Given the description of an element on the screen output the (x, y) to click on. 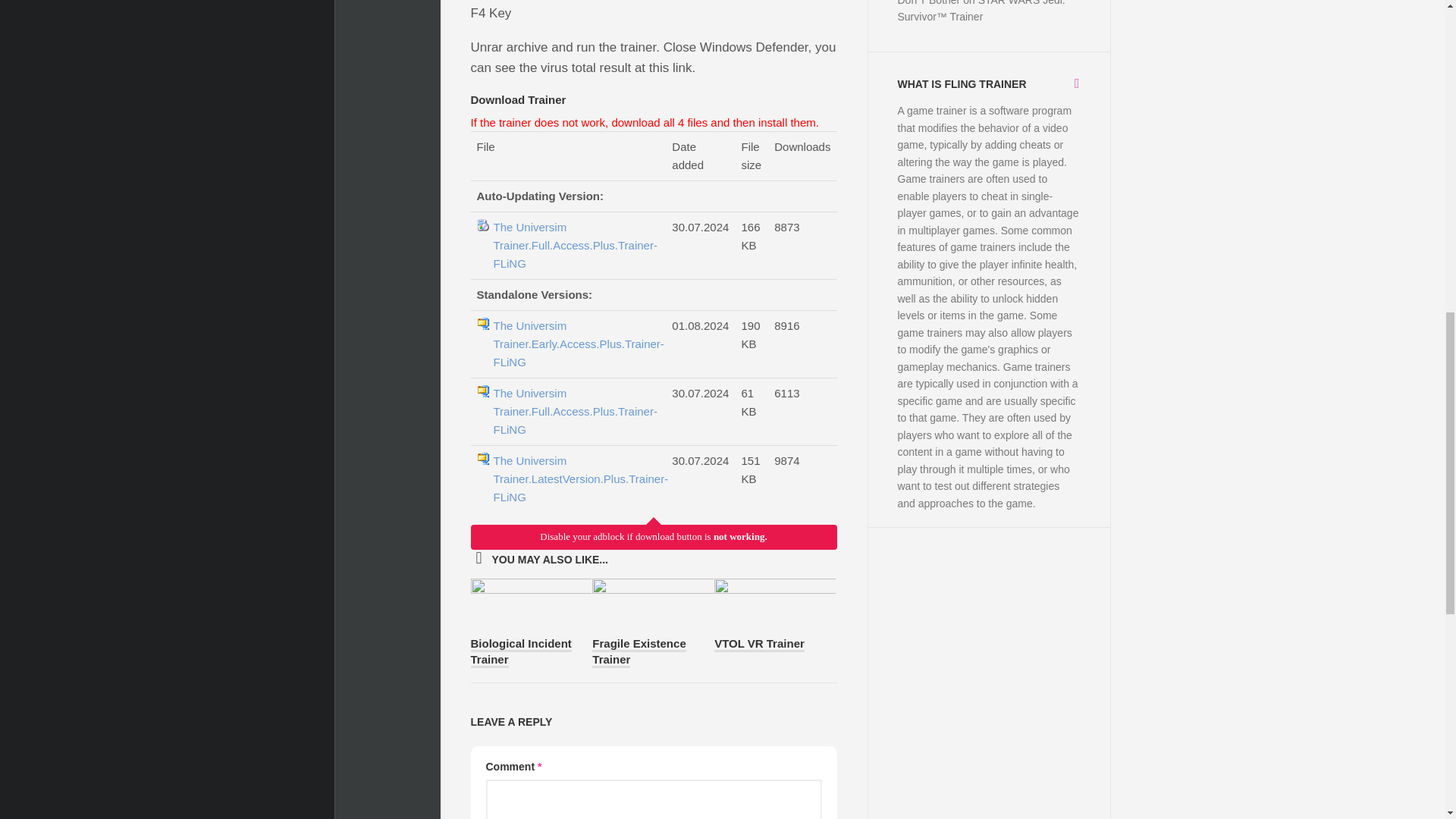
VTOL VR Trainer (759, 644)
Fragile Existence Trainer (638, 652)
The Universim Trainer.LatestVersion.Plus.Trainer-FLiNG (575, 479)
The Universim Trainer.Full.Access.Plus.12.Trainer-FLiNG (575, 479)
The Universim Trainer.Early.Access.Plus.12.Trainer-FLiNG (575, 343)
The Universim Trainer.Early.Access.Plus.Trainer-FLiNG (575, 343)
Biological Incident Trainer (520, 652)
The Universim Trainer.Early.Access.Plus.12.Trainer-FLiNG (575, 245)
The Universim Trainer.Full.Access.Plus.Trainer-FLiNG (575, 245)
The Universim Trainer.Full.Access.Plus.Trainer-FLiNG (575, 411)
